Given the description of an element on the screen output the (x, y) to click on. 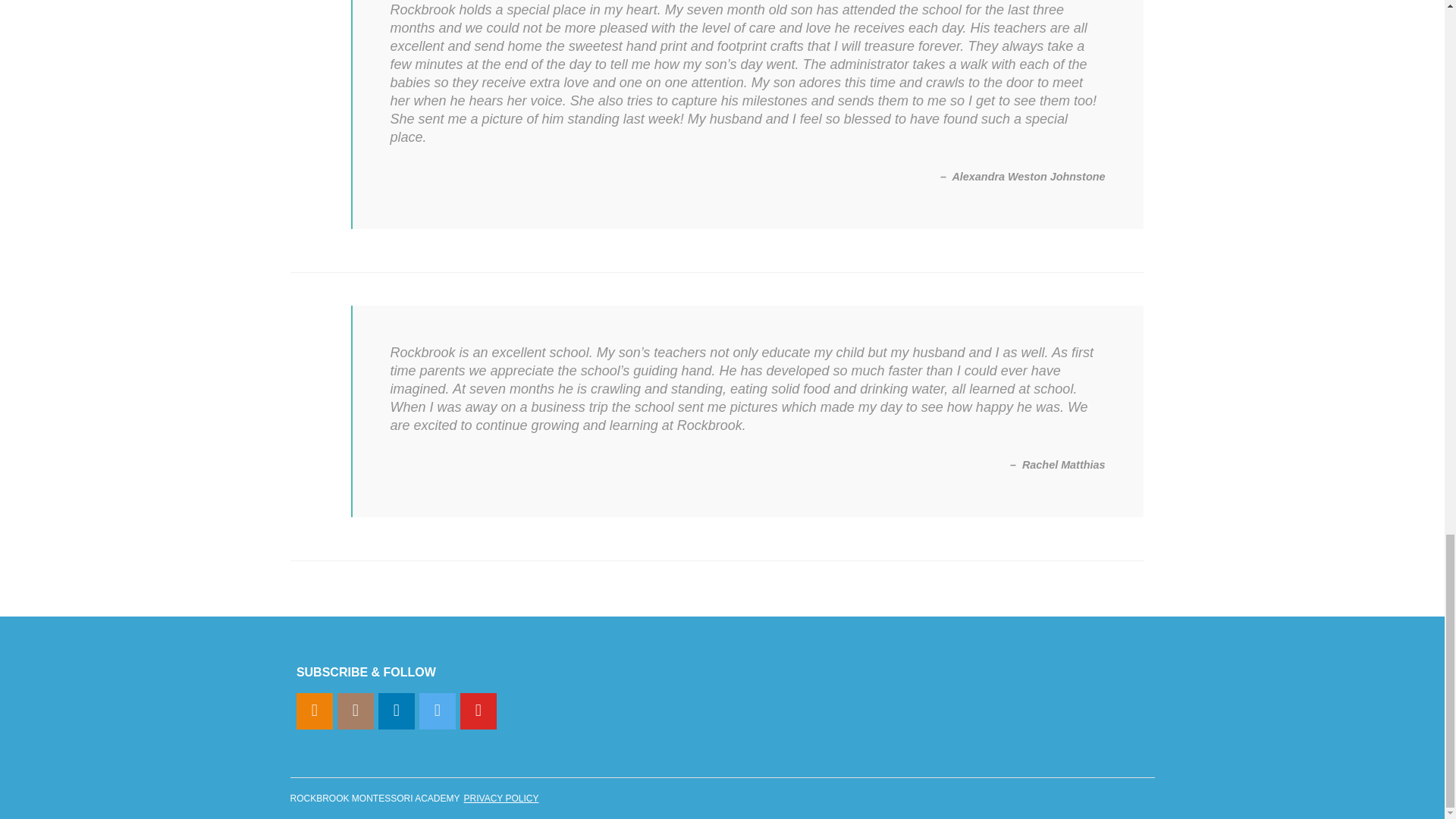
instagram (355, 710)
twitter (437, 710)
linkedin (396, 710)
youtube (478, 710)
facebook (315, 710)
